Given the description of an element on the screen output the (x, y) to click on. 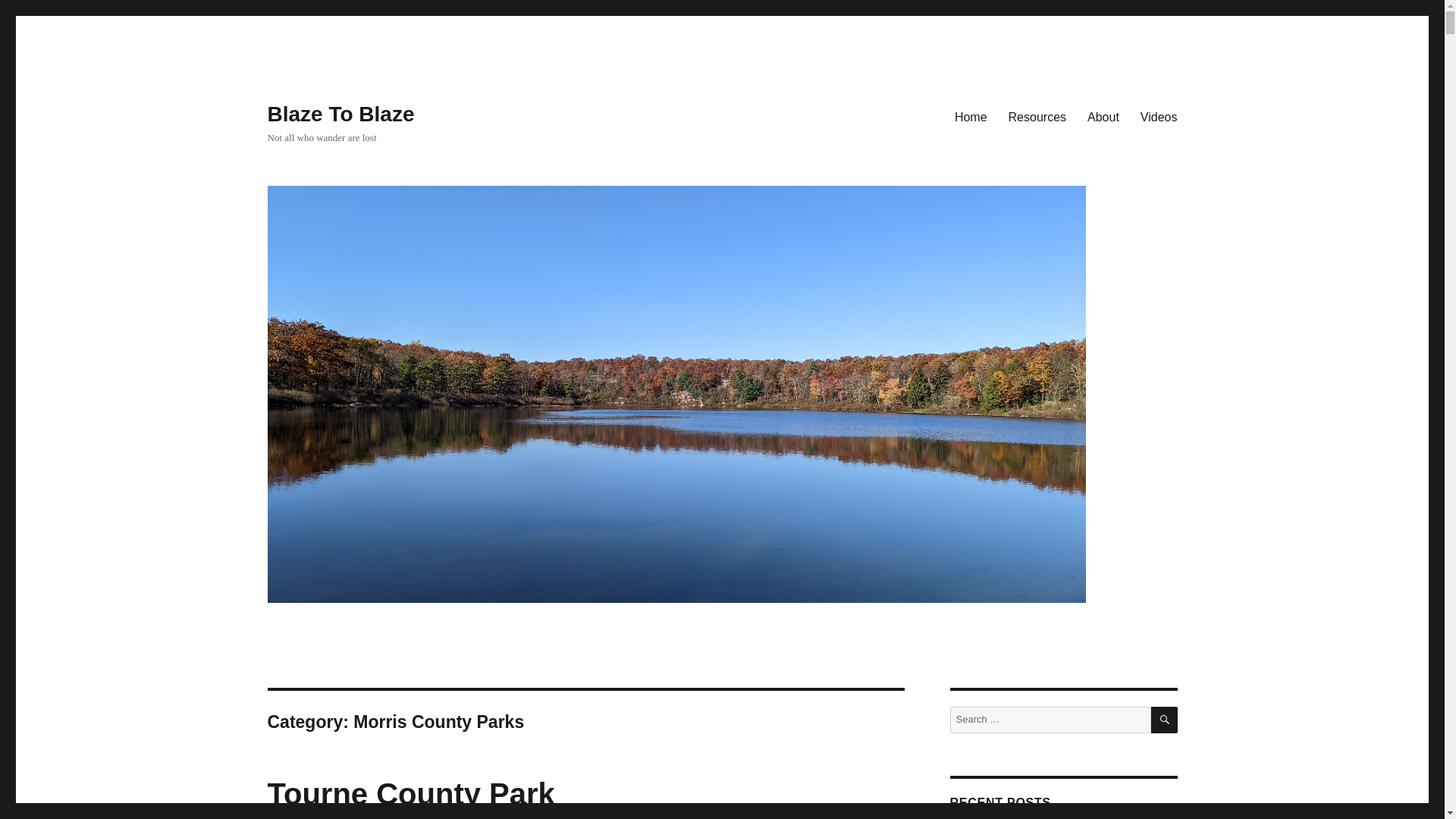
Blaze To Blaze (339, 114)
Videos (1158, 116)
About (1103, 116)
Home (970, 116)
Tourne County Park (410, 793)
Resources (1037, 116)
